Given the description of an element on the screen output the (x, y) to click on. 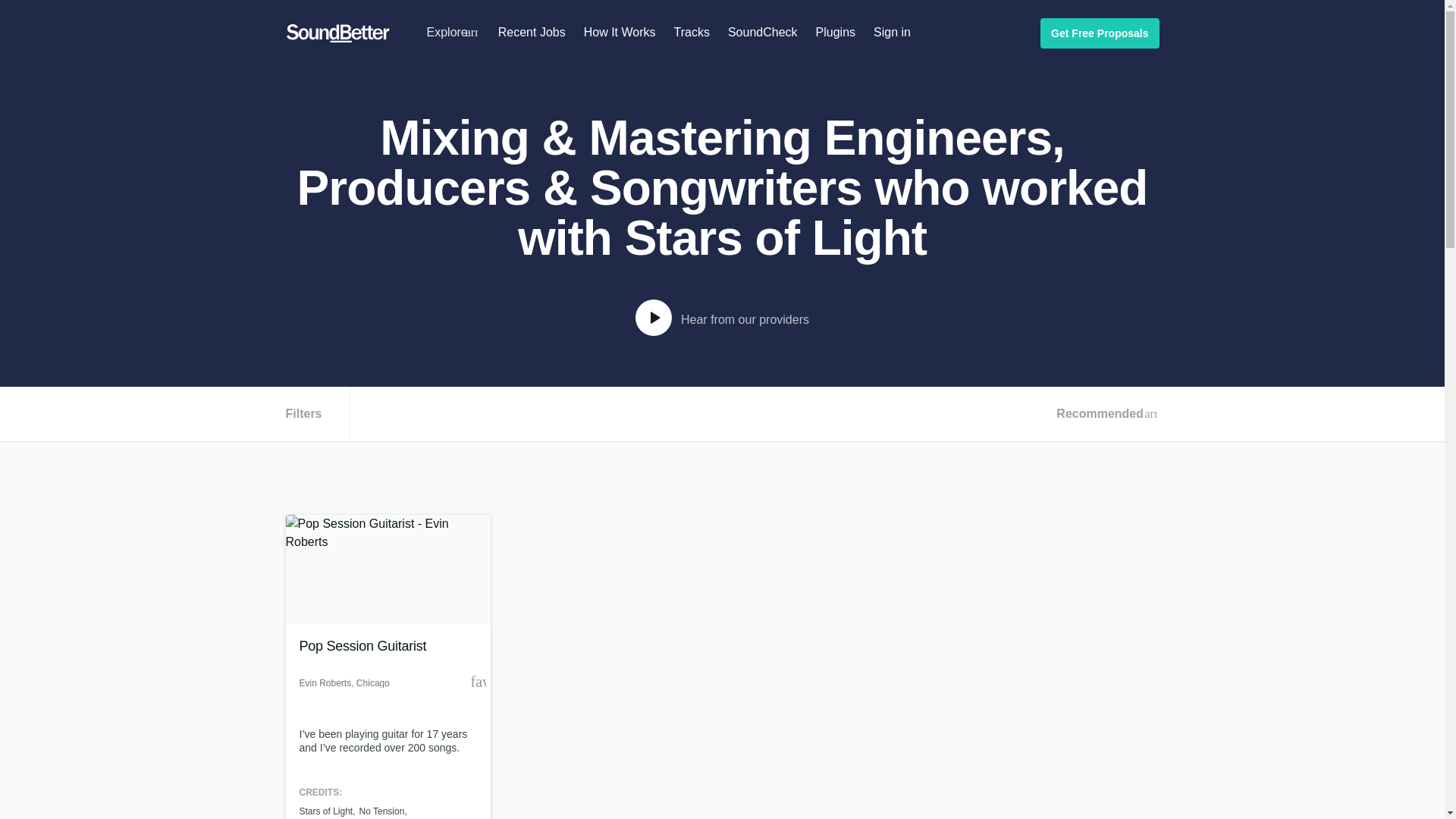
SoundBetter (337, 33)
